Given the description of an element on the screen output the (x, y) to click on. 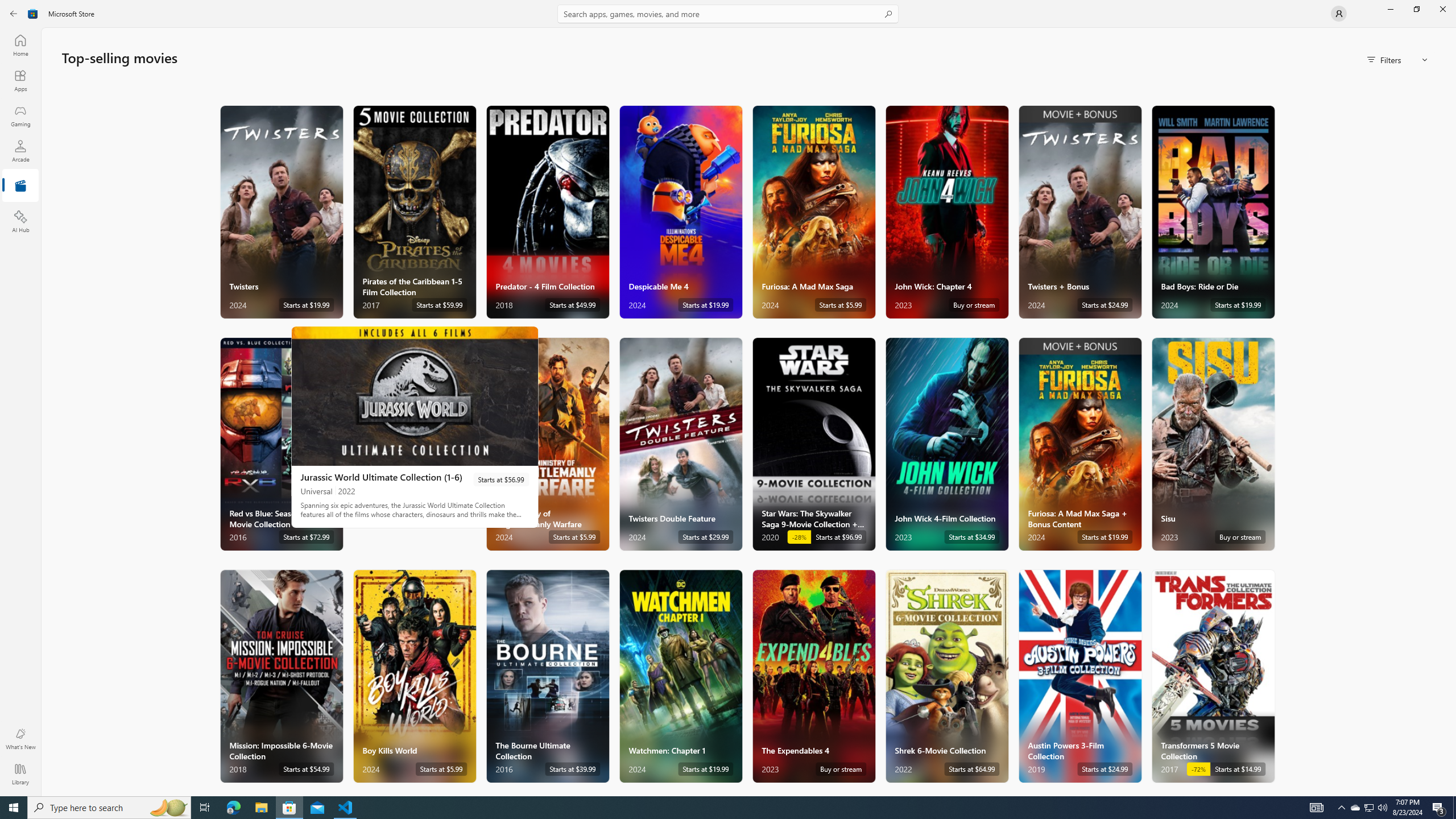
Twisters Double Feature. Starts at $29.99   (680, 444)
Back (13, 13)
Twisters + Bonus. Starts at $24.99   (1079, 211)
